Given the description of an element on the screen output the (x, y) to click on. 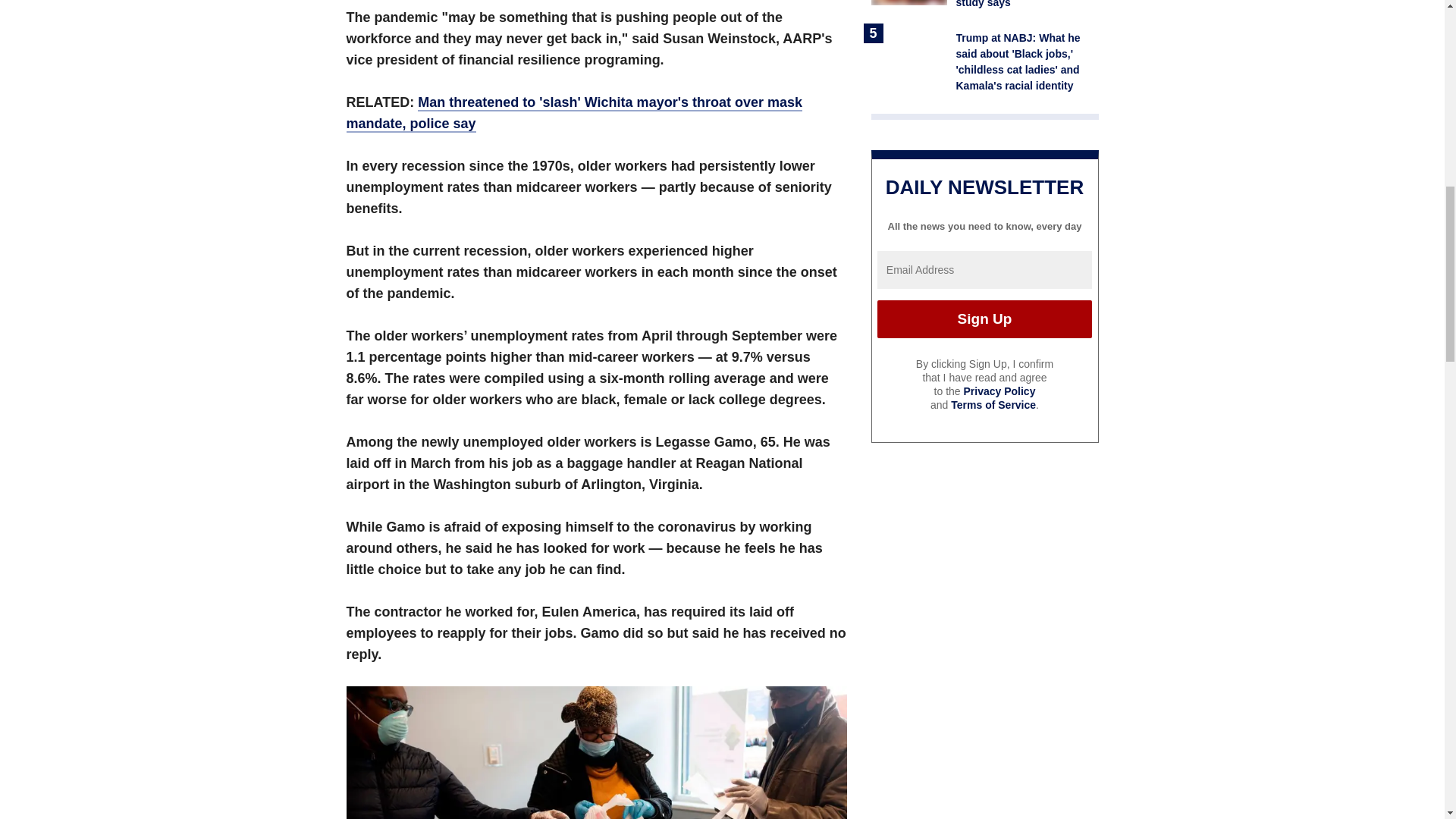
Sign Up (984, 319)
